Given the description of an element on the screen output the (x, y) to click on. 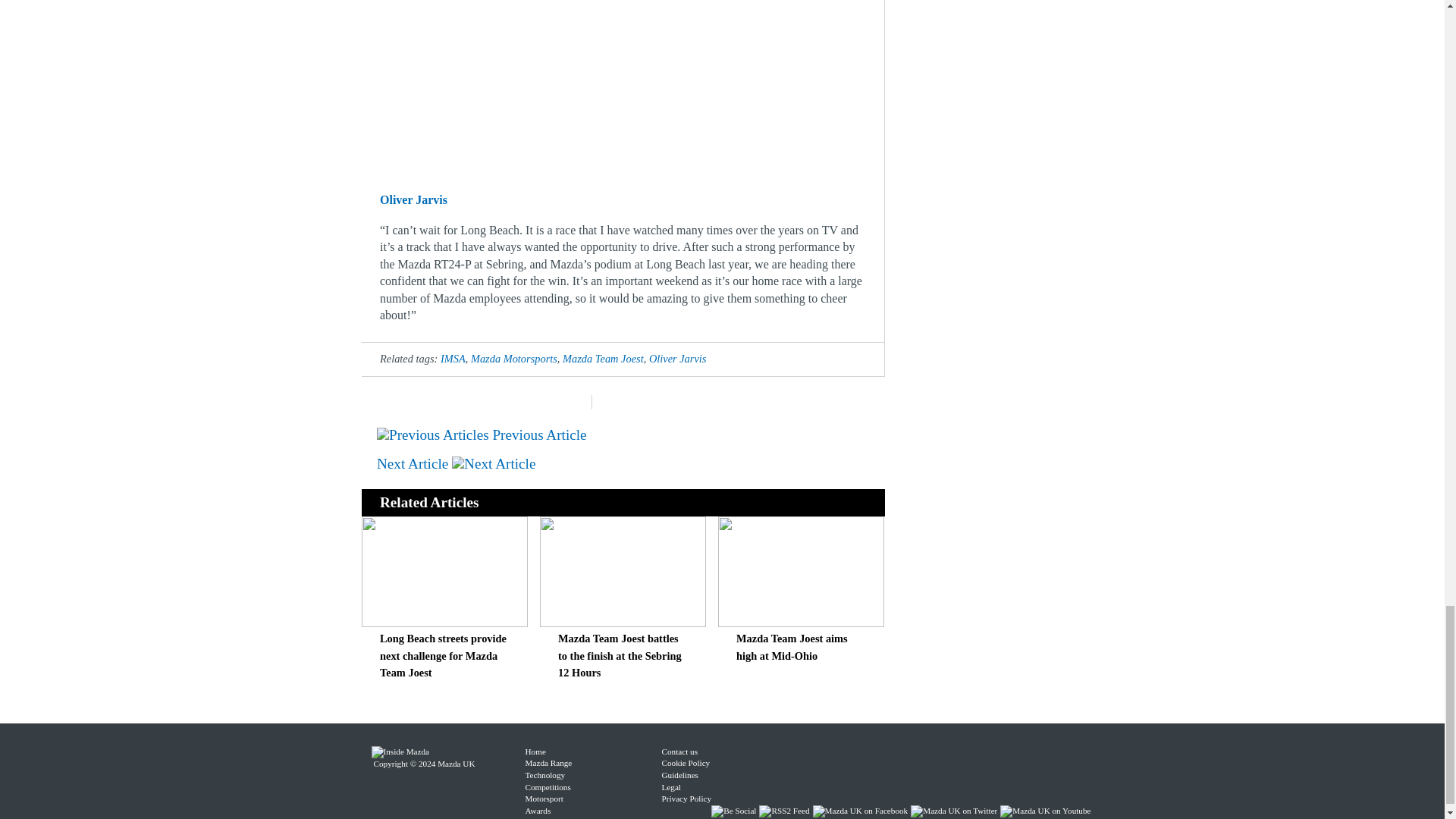
Next Article (456, 463)
Mazda Motorsports (513, 358)
Inside Mazda (400, 750)
Mazda UK on Facebook (861, 809)
Oliver Jarvis (413, 199)
IMSA (453, 358)
Mazda Team Joest aims high at Mid-Ohio (791, 646)
Oliver Jarvis (677, 358)
Mazda Team Joest aims high at Mid-Ohio (800, 622)
RSS2 Feed (785, 809)
Previous Article (481, 434)
